Given the description of an element on the screen output the (x, y) to click on. 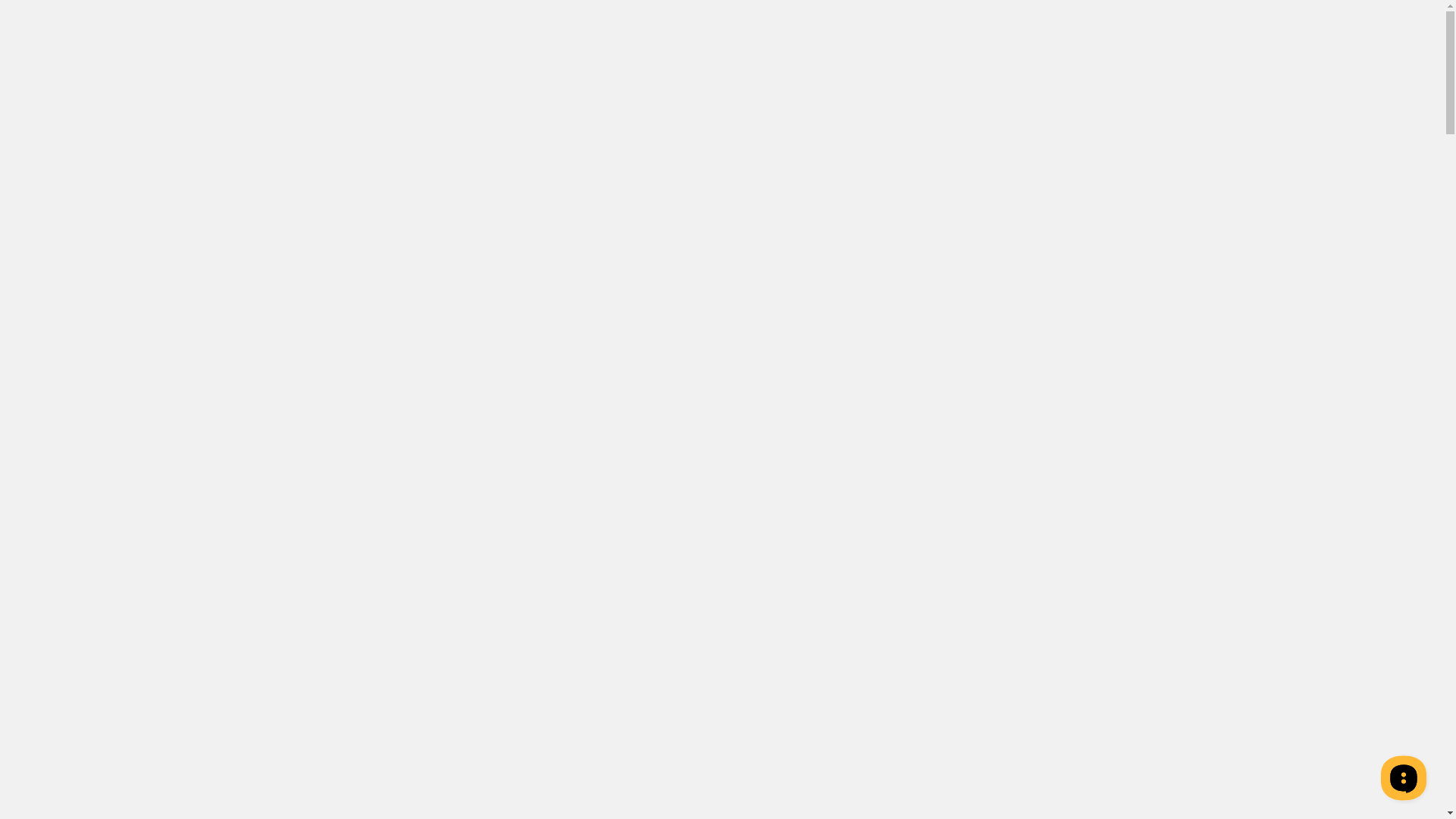
__replain_widget_iframe Element type: hover (1402, 776)
